Given the description of an element on the screen output the (x, y) to click on. 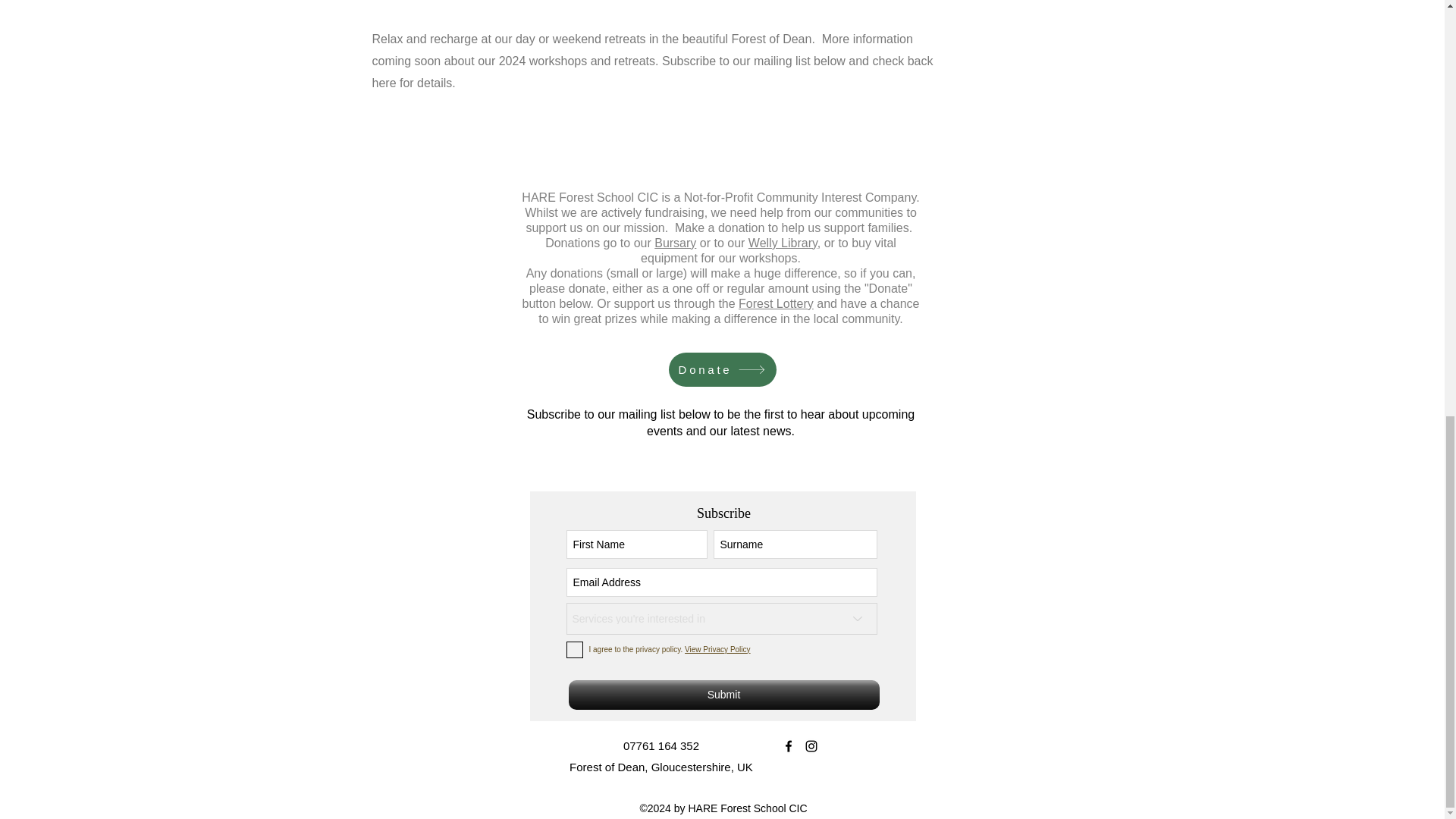
View Privacy Policy (717, 649)
Submit (724, 695)
Welly Library (782, 242)
Forest Lottery (775, 303)
Bursary (674, 242)
Donate (722, 369)
